Given the description of an element on the screen output the (x, y) to click on. 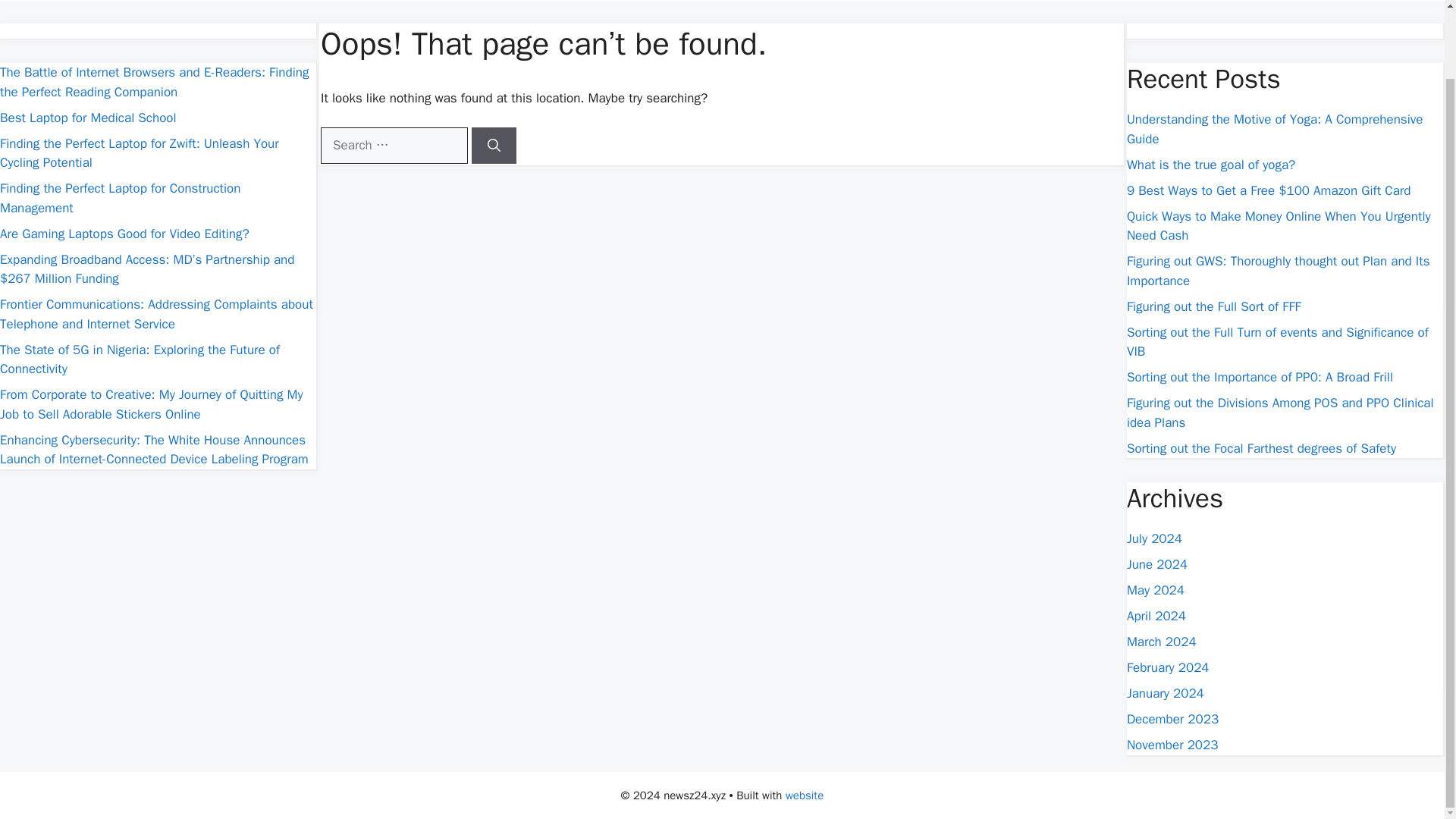
May 2024 (1155, 590)
Understanding the Motive of Yoga: A Comprehensive Guide (1274, 129)
January 2024 (1165, 693)
April 2024 (1156, 616)
Best Laptop for Medical School (88, 116)
Search for: (393, 145)
